Given the description of an element on the screen output the (x, y) to click on. 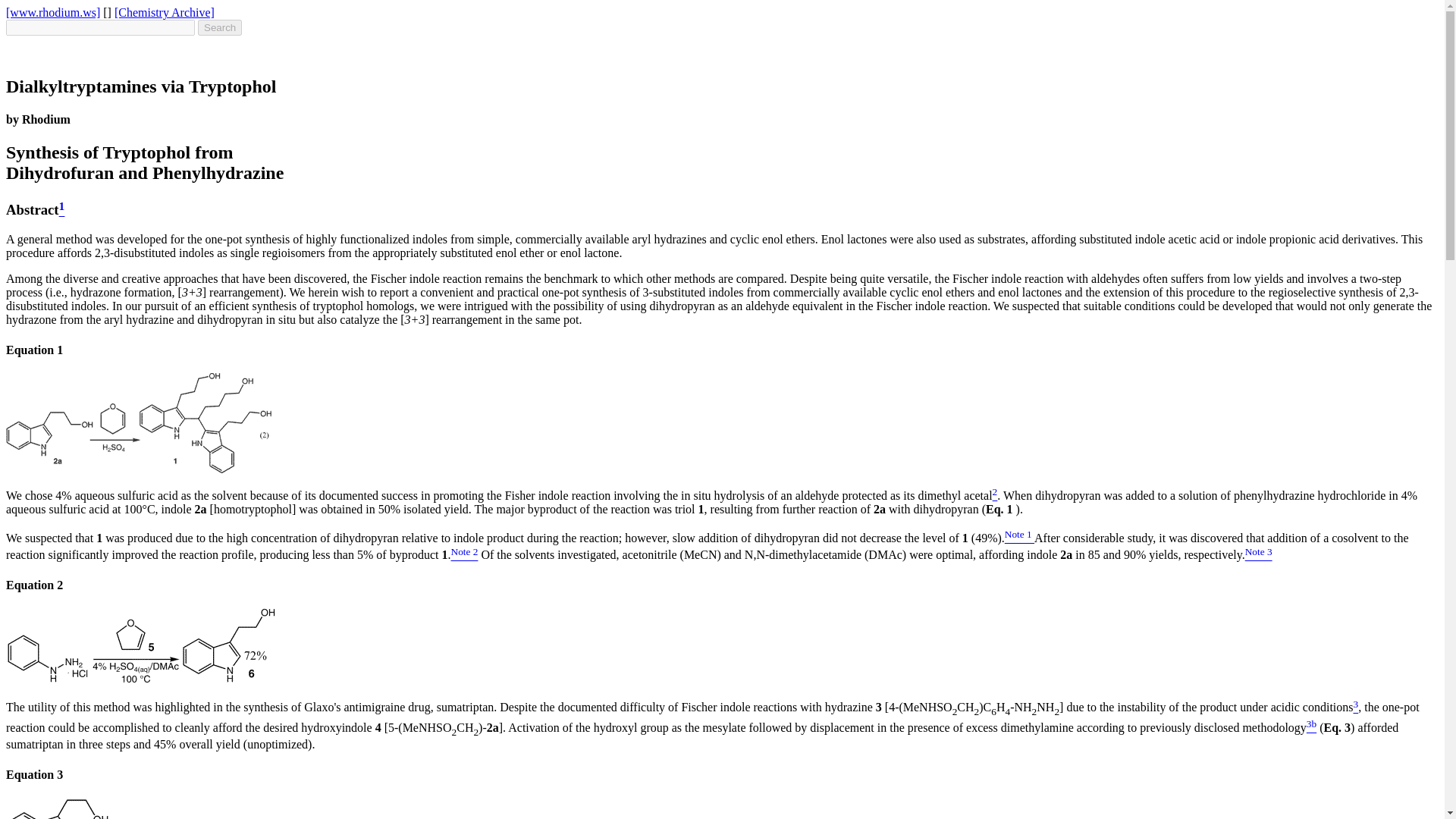
Search (219, 27)
Note 3 (1258, 554)
Note 1 (1018, 537)
Search (219, 27)
Note 2 (463, 554)
